Given the description of an element on the screen output the (x, y) to click on. 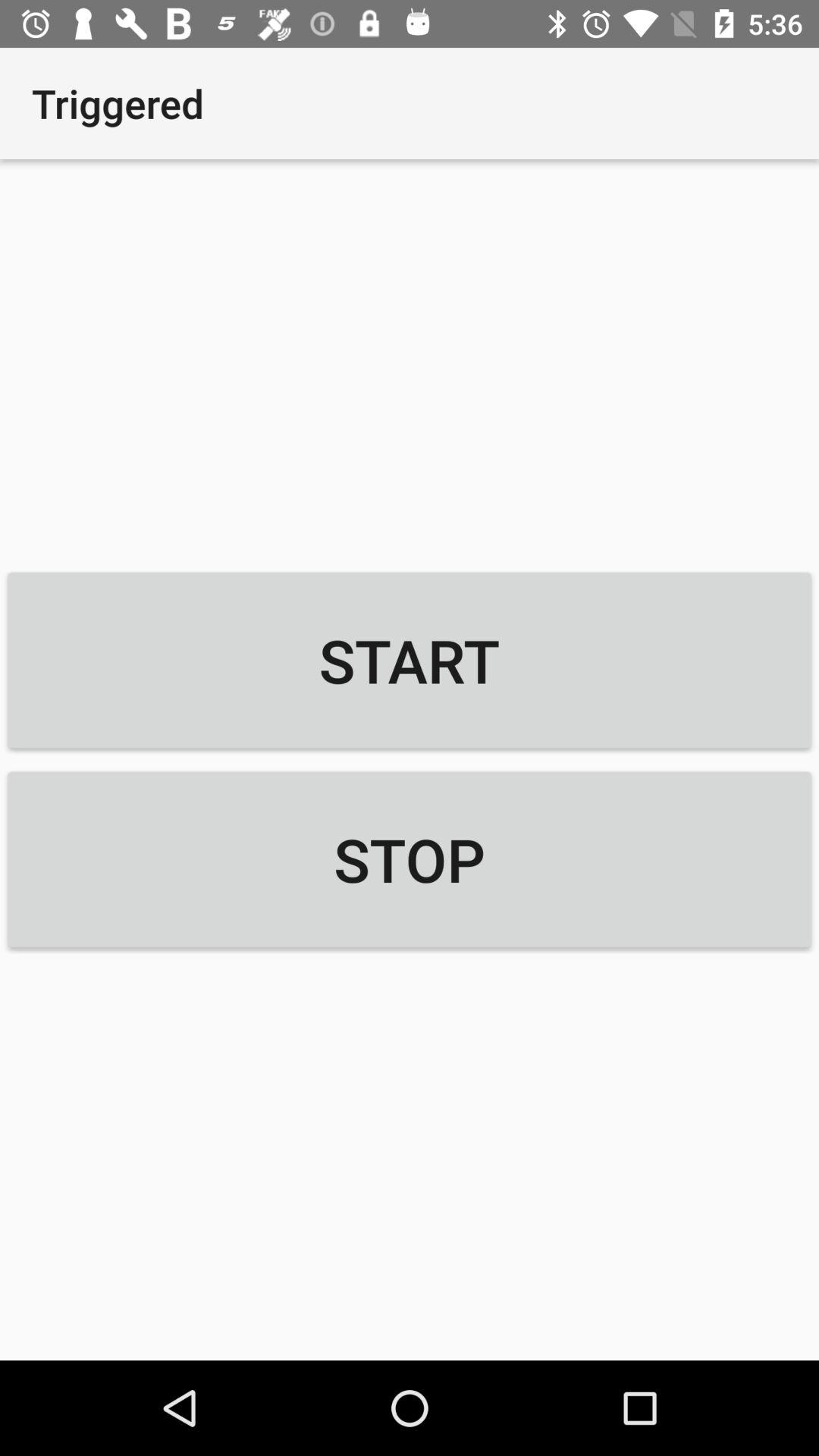
turn on the start icon (409, 659)
